Given the description of an element on the screen output the (x, y) to click on. 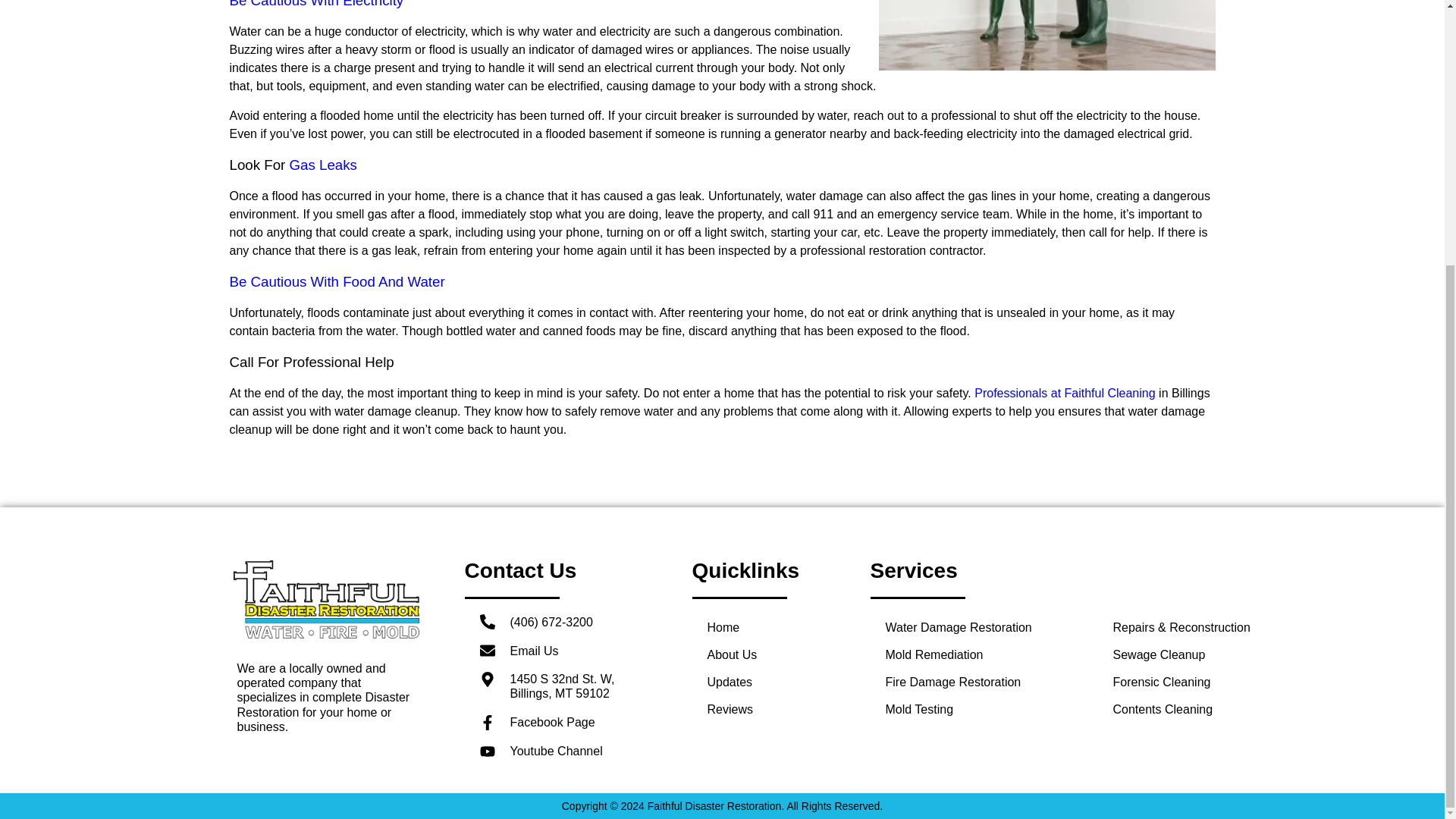
Youtube Channel (562, 751)
Gas Leaks (322, 164)
Professionals at Faithful Cleaning (1064, 392)
Email Us (562, 650)
Be Cautious With Electricity (315, 4)
Be Cautious With Food And Water (336, 281)
Facebook Page (562, 722)
